Given the description of an element on the screen output the (x, y) to click on. 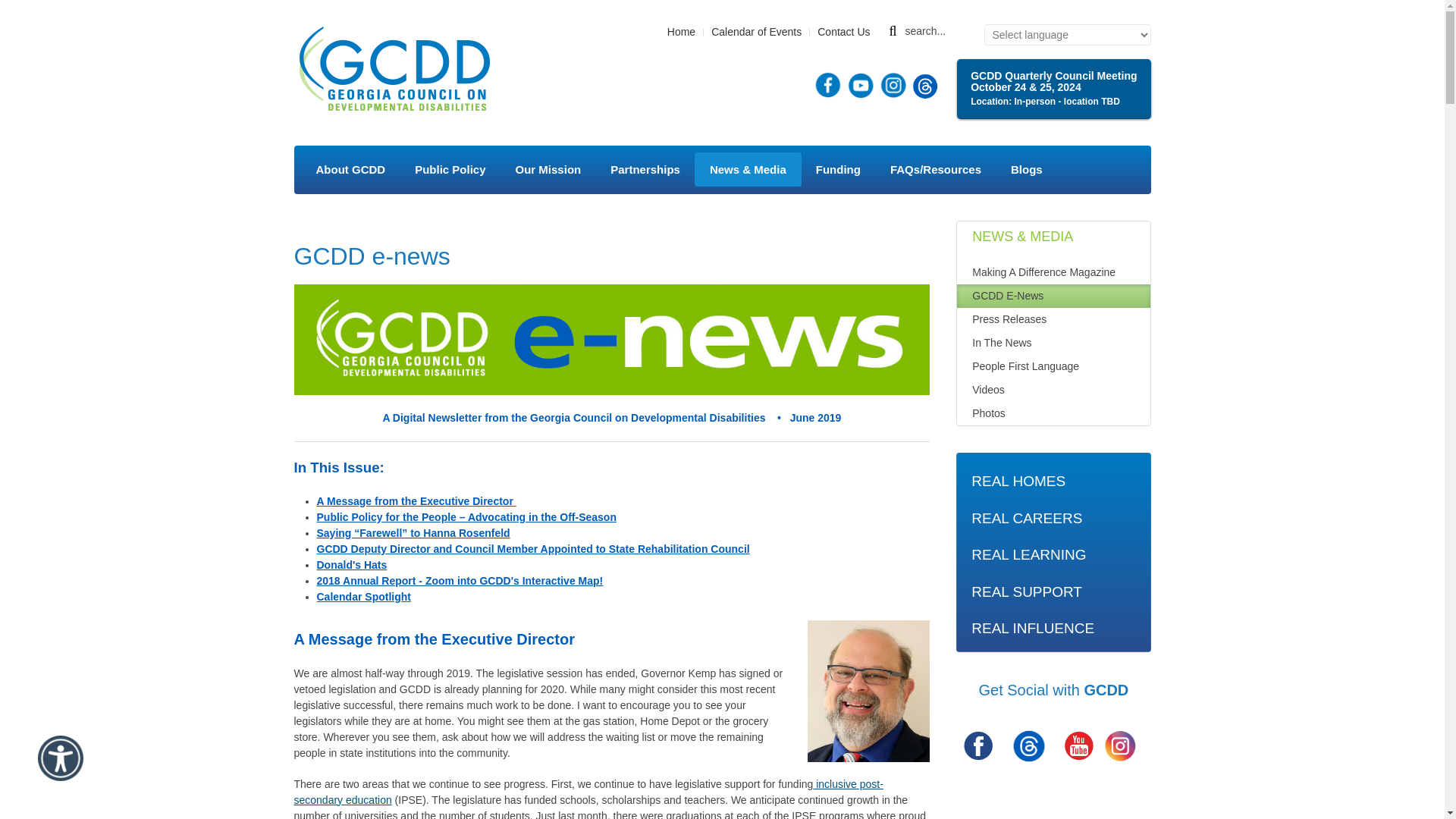
GCDD on Facebook (978, 745)
GCDD on YouTube (1079, 745)
GCDD on Instagram (892, 84)
GCDD on Instagram (1119, 745)
Contact Us (842, 32)
GCDD on Twitter (1029, 745)
Home (394, 70)
GCDD on Instagram (1119, 745)
GCDD on YouTube (1079, 745)
GCDD - GEORGIA COUNCIL ON DEVELOPMENTAL DISABILITIES (394, 70)
JUMP TO NAVIGATION (1273, 53)
GCDD on Facebook (978, 745)
Home (680, 32)
GCDD on Twitter (1029, 745)
Calendar of Events (756, 32)
